Given the description of an element on the screen output the (x, y) to click on. 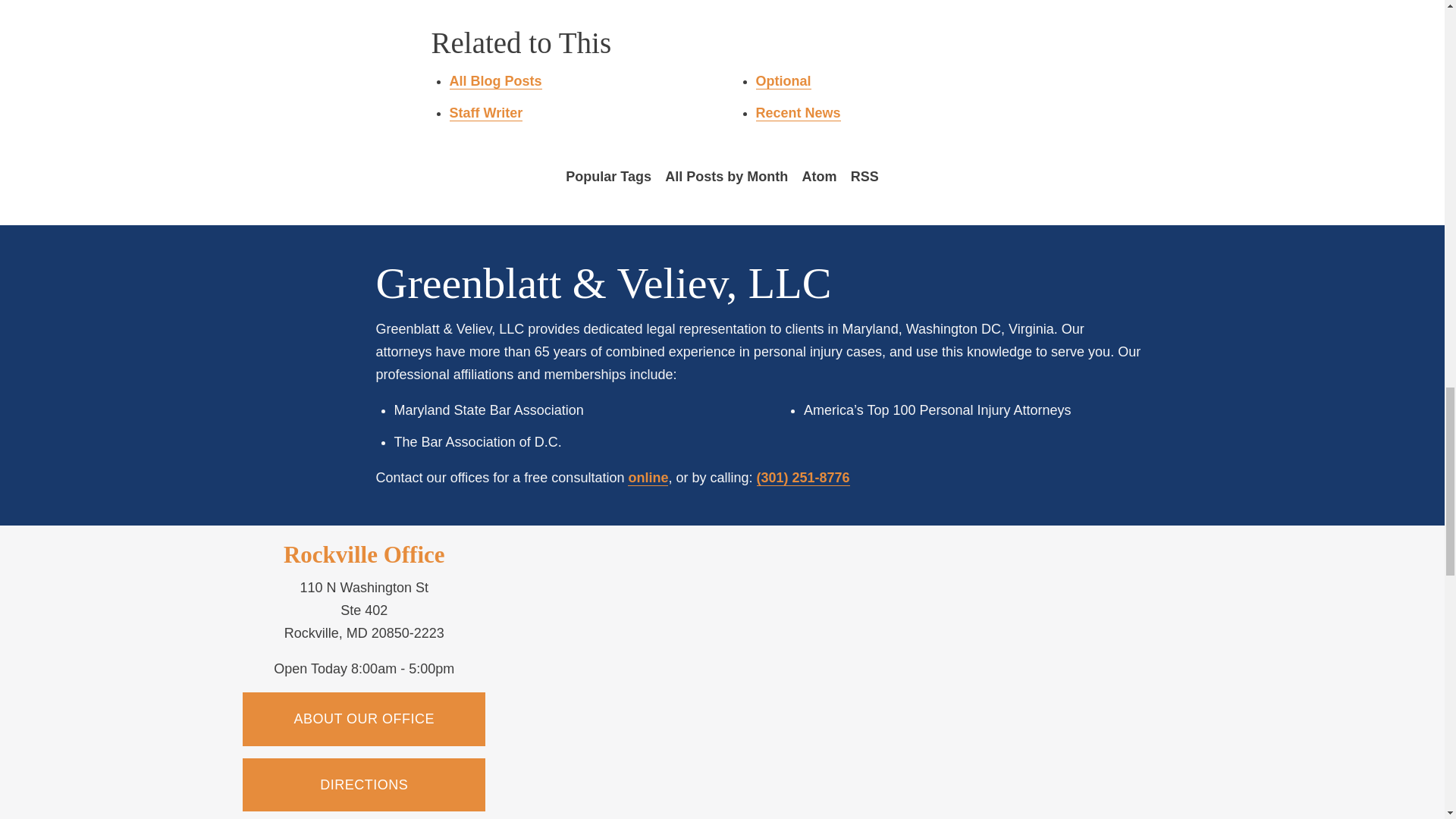
Optional (782, 81)
Popular Tags (608, 176)
All Posts by Month (726, 176)
DIRECTIONS (363, 784)
ABOUT OUR OFFICE (363, 718)
Recent News (797, 113)
online (647, 478)
RSS (864, 176)
All Blog Posts (494, 81)
Rockville Office (364, 554)
